Given the description of an element on the screen output the (x, y) to click on. 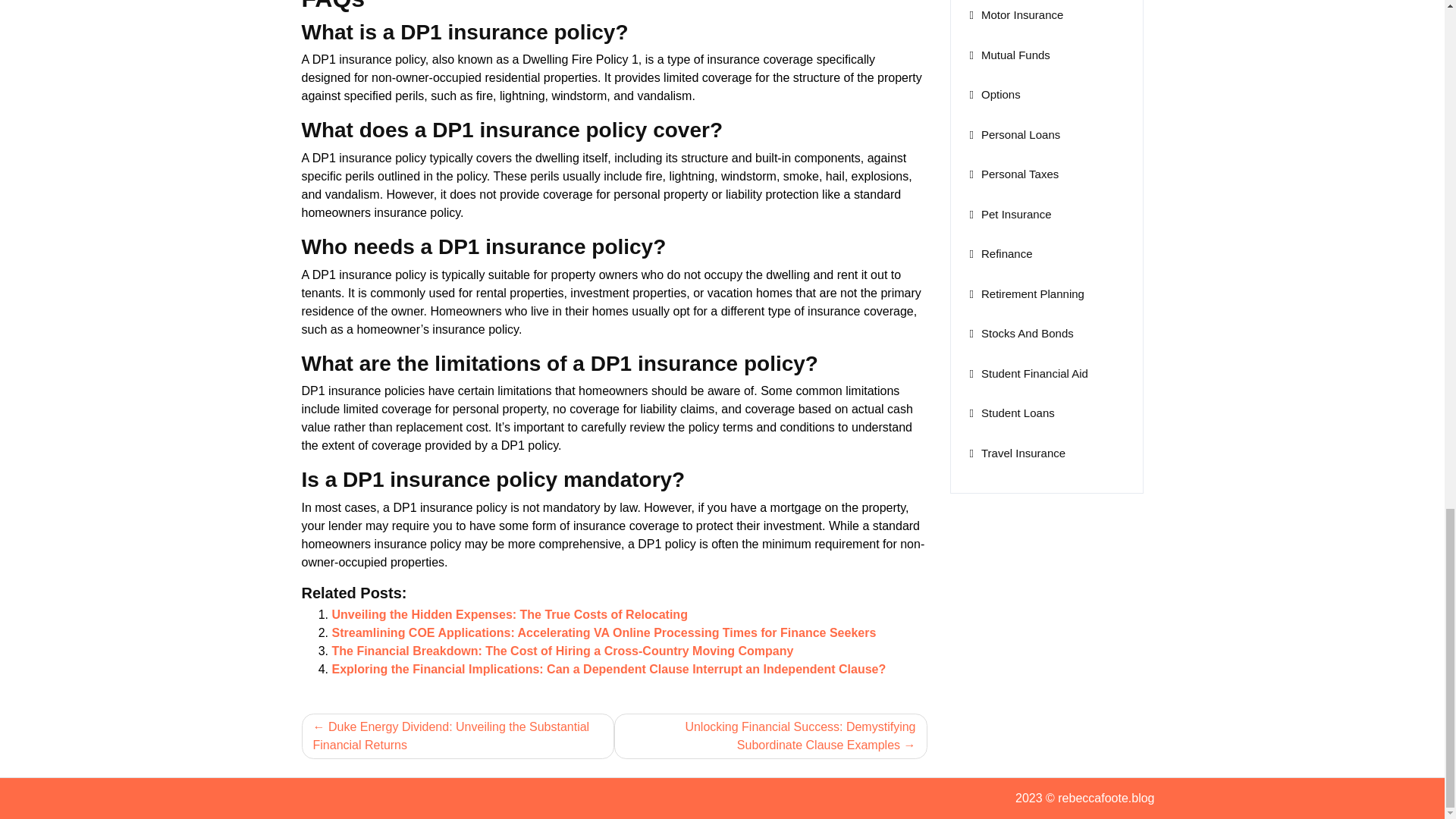
Options (994, 93)
Motor Insurance (1015, 14)
Personal Loans (1014, 133)
Unveiling the Hidden Expenses: The True Costs of Relocating (509, 614)
Mutual Funds (1009, 54)
Personal Taxes (1013, 173)
